Given the description of an element on the screen output the (x, y) to click on. 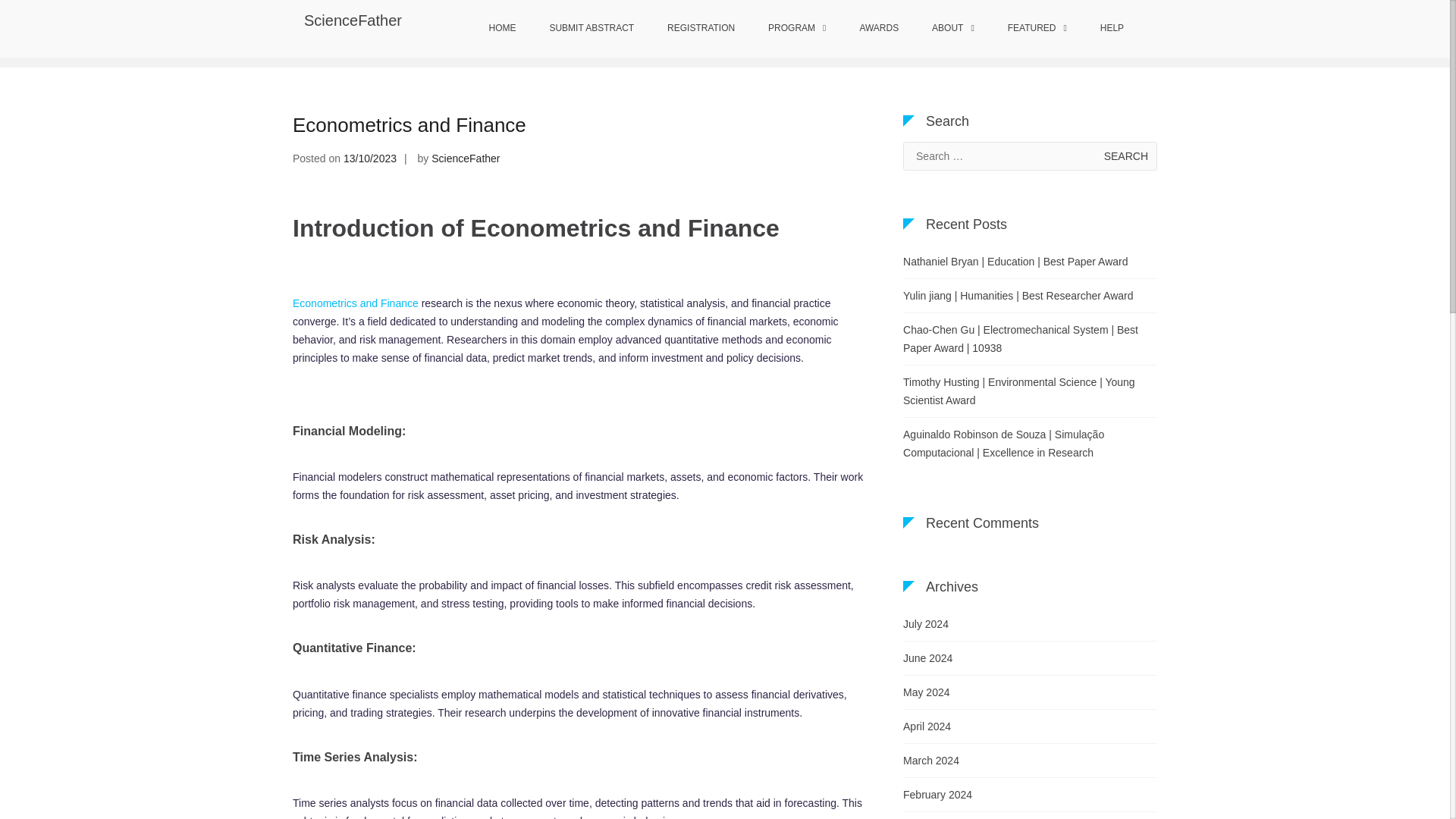
Search (1125, 155)
AWARDS (879, 28)
Search (1125, 155)
ScienceFather (352, 20)
Econometrics and Finance (355, 303)
HELP (1111, 28)
Home (928, 29)
Econometrics and Finance (408, 124)
REGISTRATION (700, 28)
ScienceFather (464, 158)
SUBMIT ABSTRACT (591, 28)
FEATURED (1036, 28)
PROGRAM (796, 28)
HOME (502, 28)
Home (928, 29)
